Given the description of an element on the screen output the (x, y) to click on. 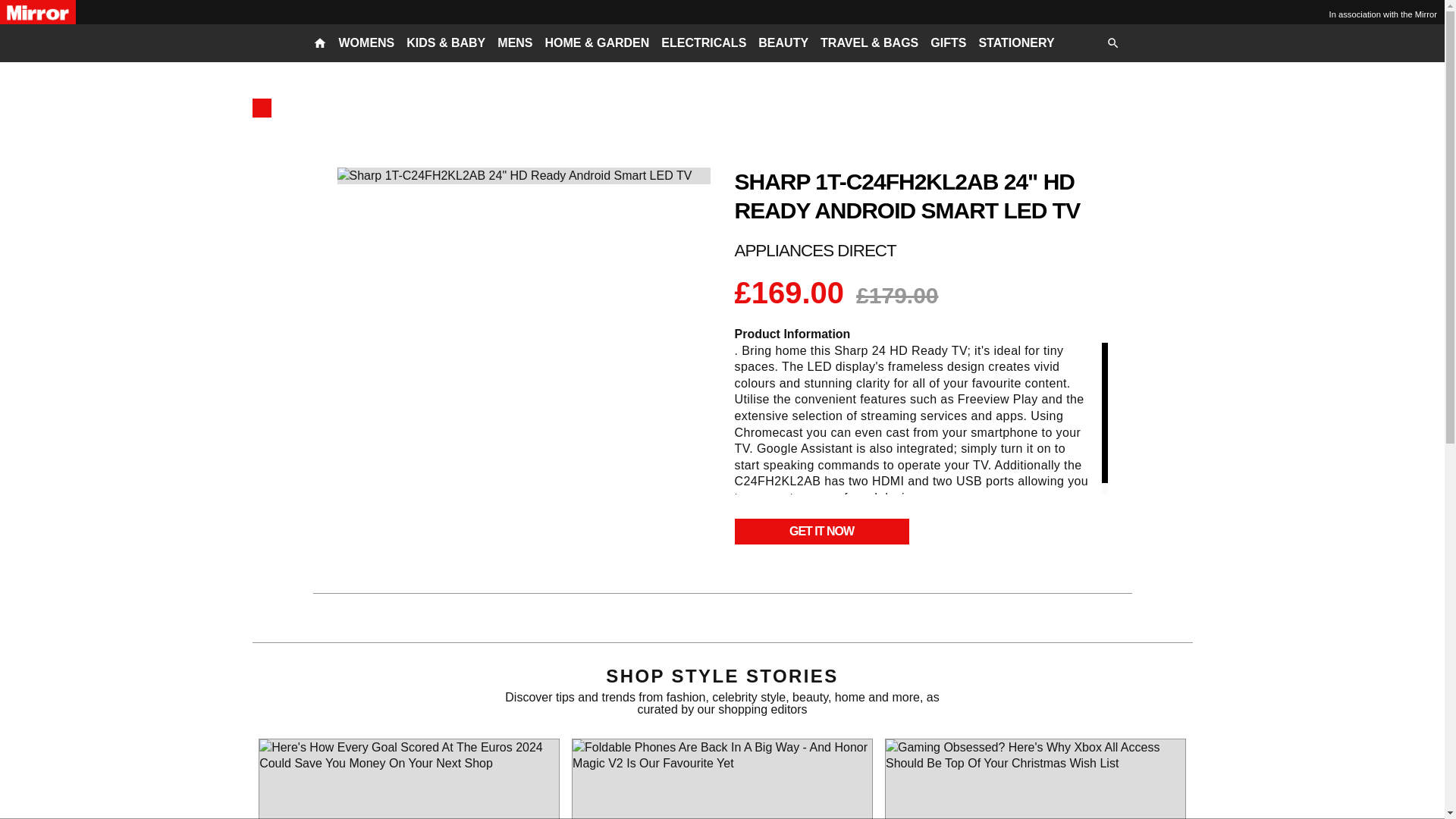
GIFTS (948, 43)
Home (260, 107)
WOMENS (365, 43)
GET IT NOW (820, 531)
STATIONERY (1016, 43)
ELECTRICALS (703, 43)
MENS (514, 43)
BEAUTY (783, 43)
